Given the description of an element on the screen output the (x, y) to click on. 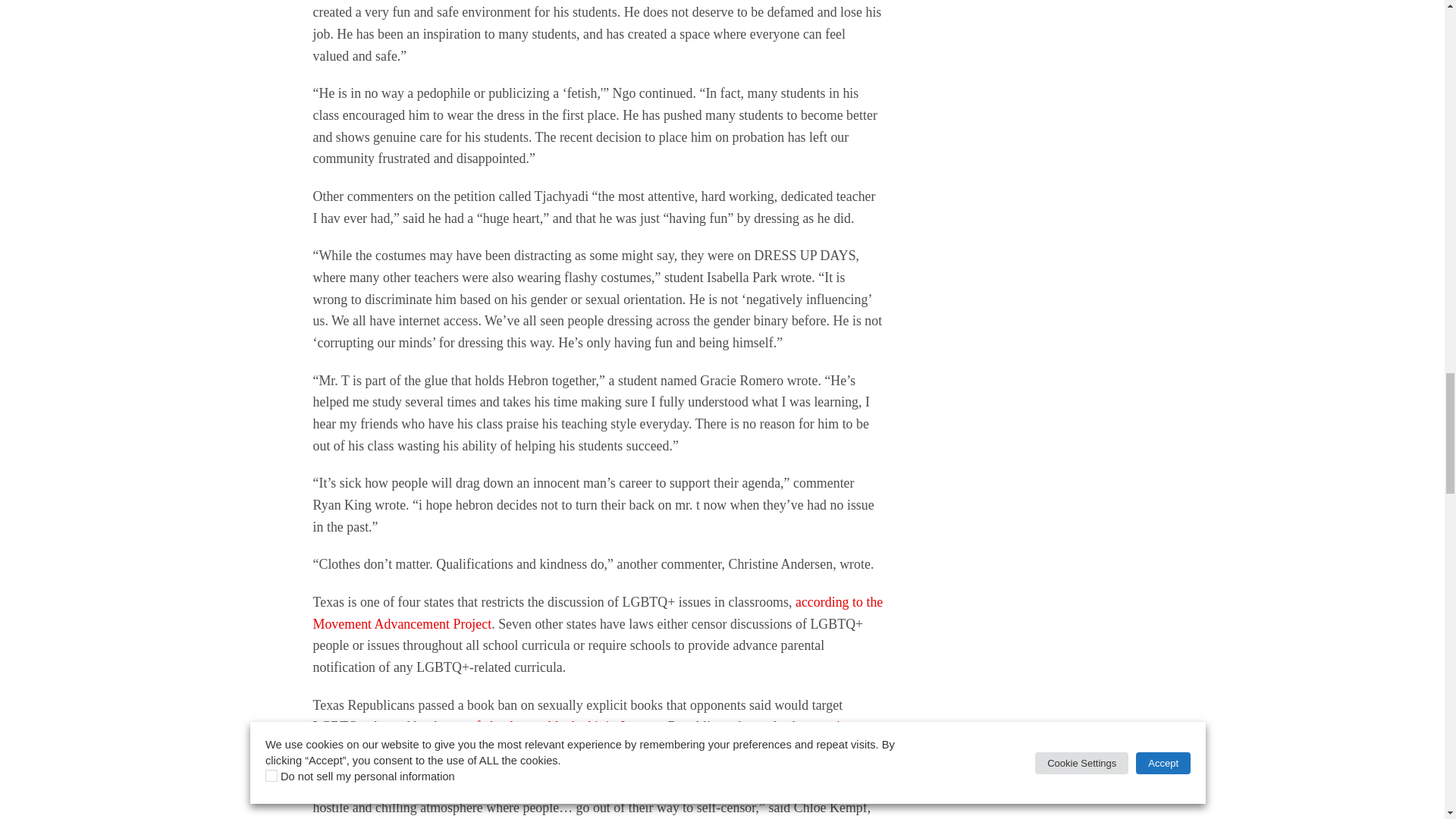
according to the Movement Advancement Project (597, 612)
a federal court blocked it in January (563, 726)
